Given the description of an element on the screen output the (x, y) to click on. 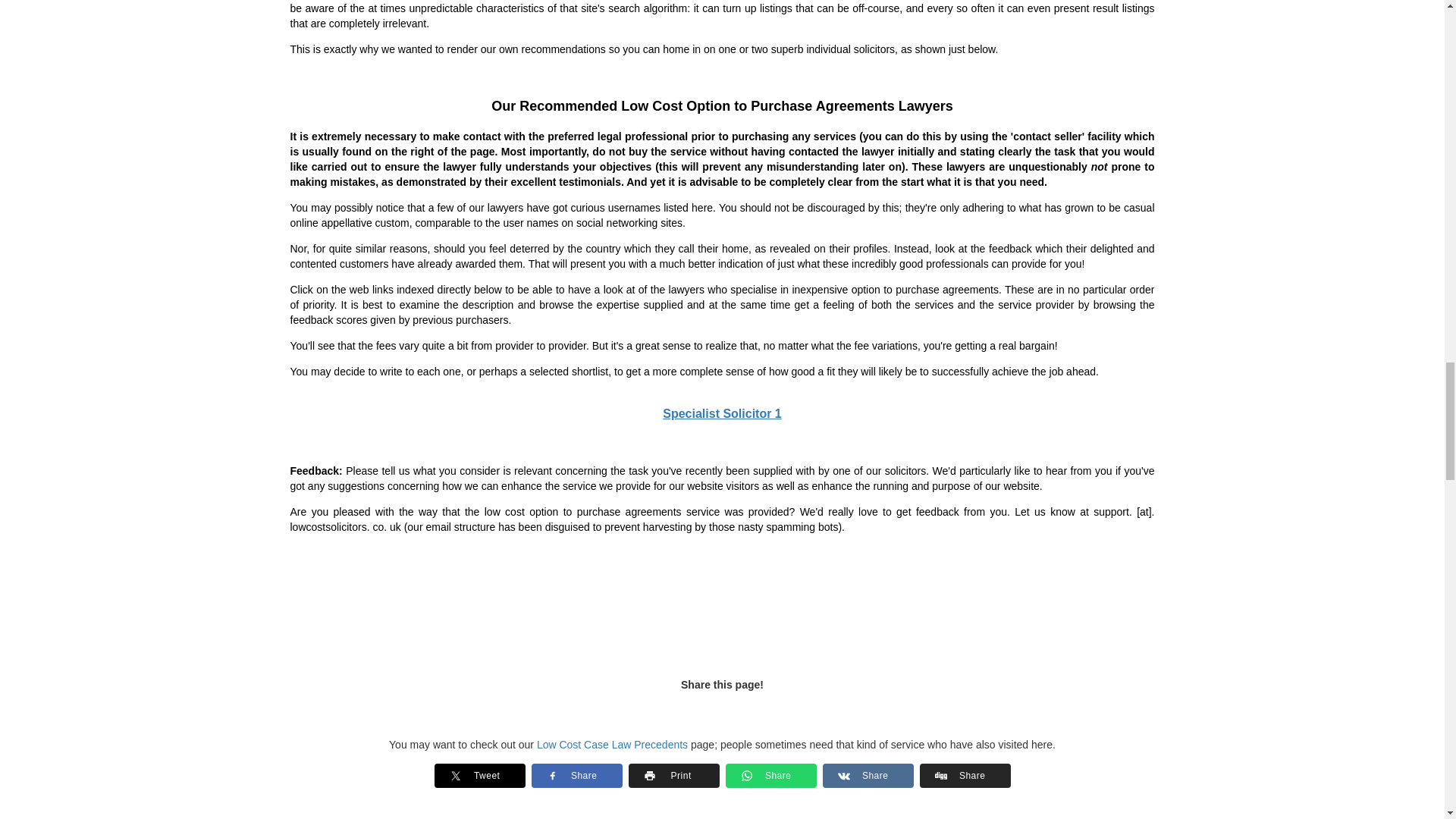
Specialist Solicitor 1 (721, 413)
Low Cost Case Law Precedents (612, 744)
